Given the description of an element on the screen output the (x, y) to click on. 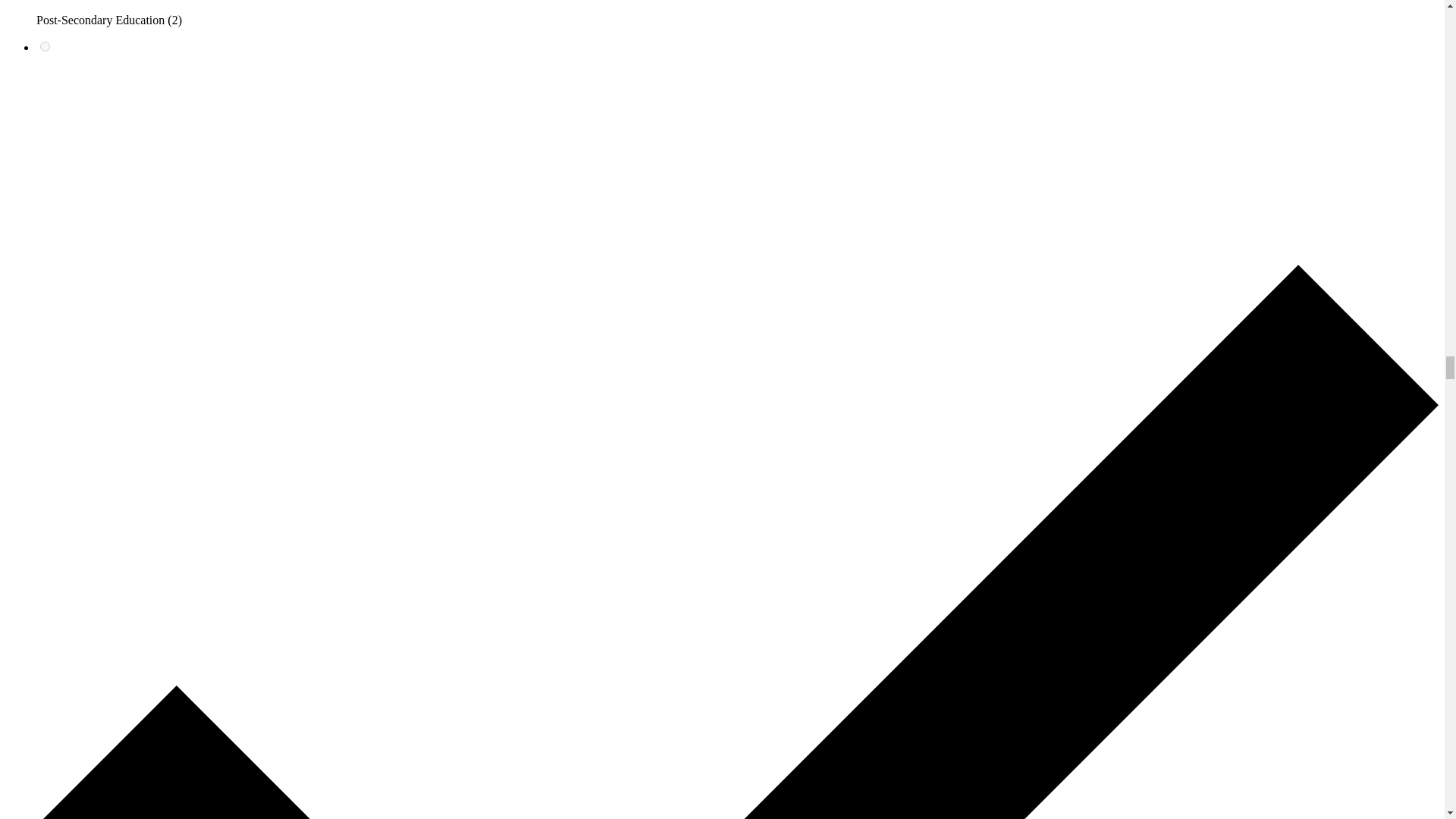
3 (44, 46)
